Given the description of an element on the screen output the (x, y) to click on. 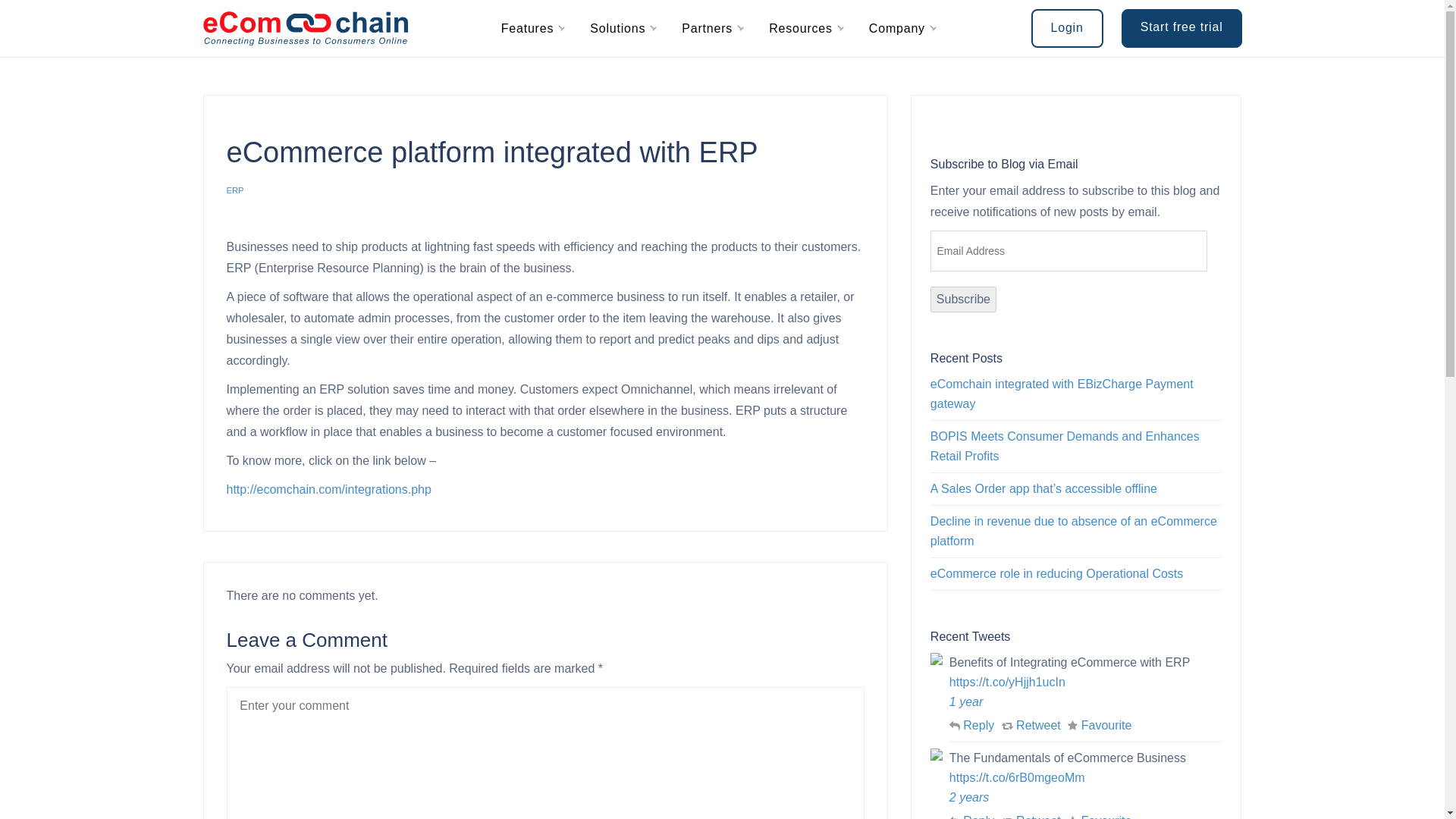
Resources (800, 28)
Solutions (617, 28)
Subscribe (962, 299)
Features (527, 28)
Reply (971, 725)
Company (896, 28)
Favourite (1099, 725)
eComchain (305, 28)
Retweet (1031, 725)
Favourite (1099, 816)
